Given the description of an element on the screen output the (x, y) to click on. 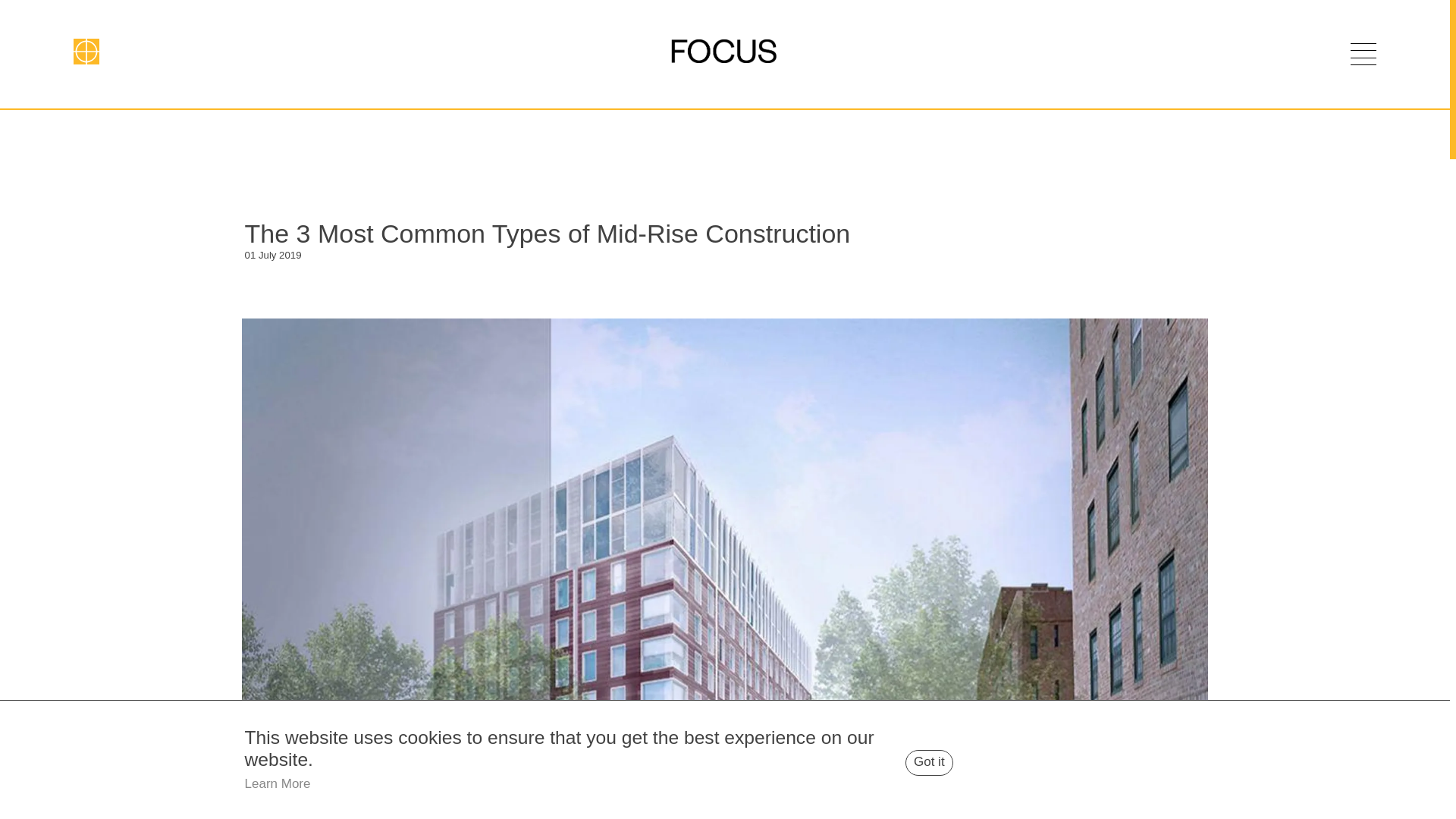
Got it (929, 762)
Learn More (277, 783)
